Given the description of an element on the screen output the (x, y) to click on. 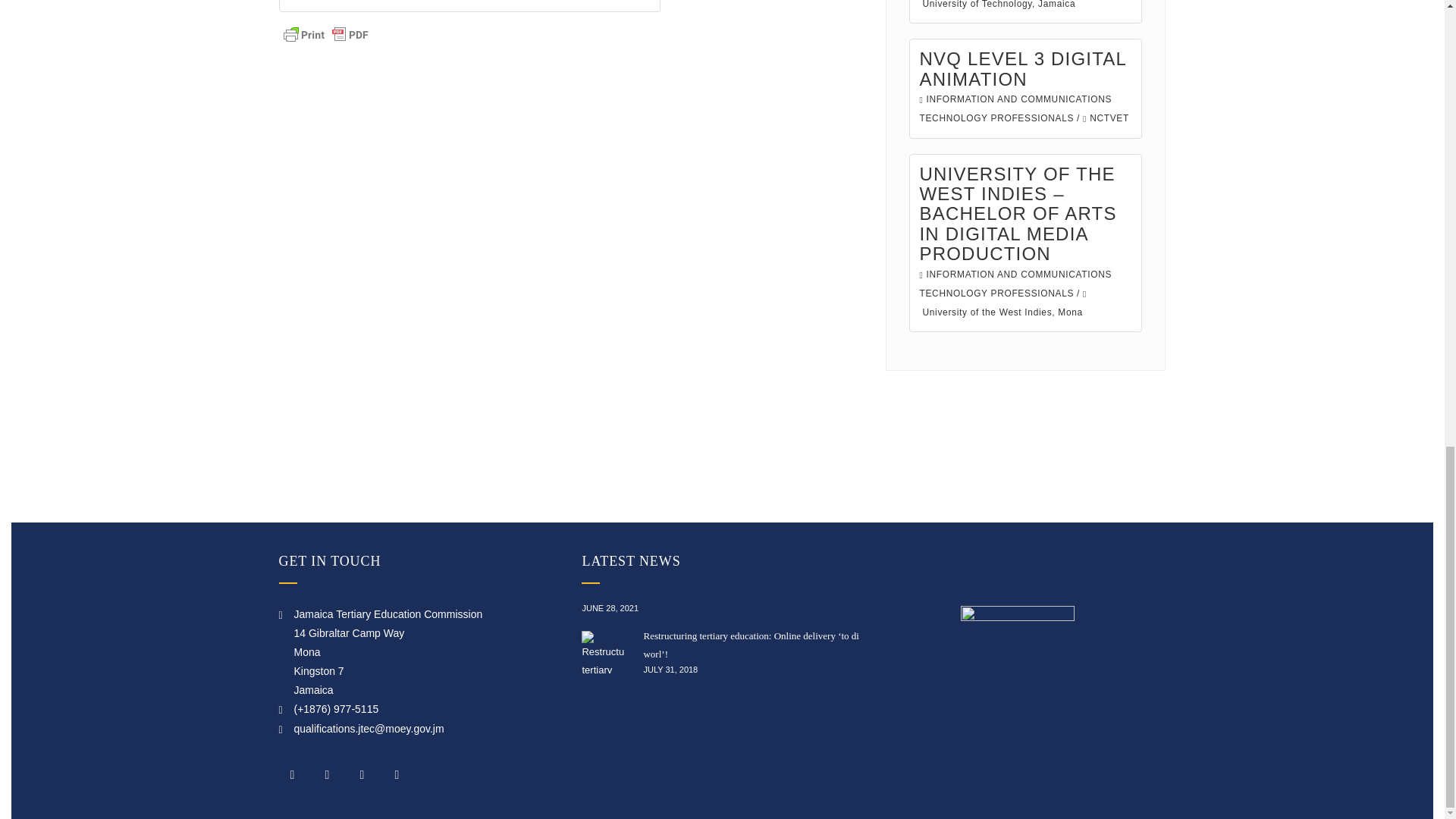
Facebook (292, 774)
Linkedin (397, 774)
Youtube (327, 774)
Instagram (362, 774)
